Given the description of an element on the screen output the (x, y) to click on. 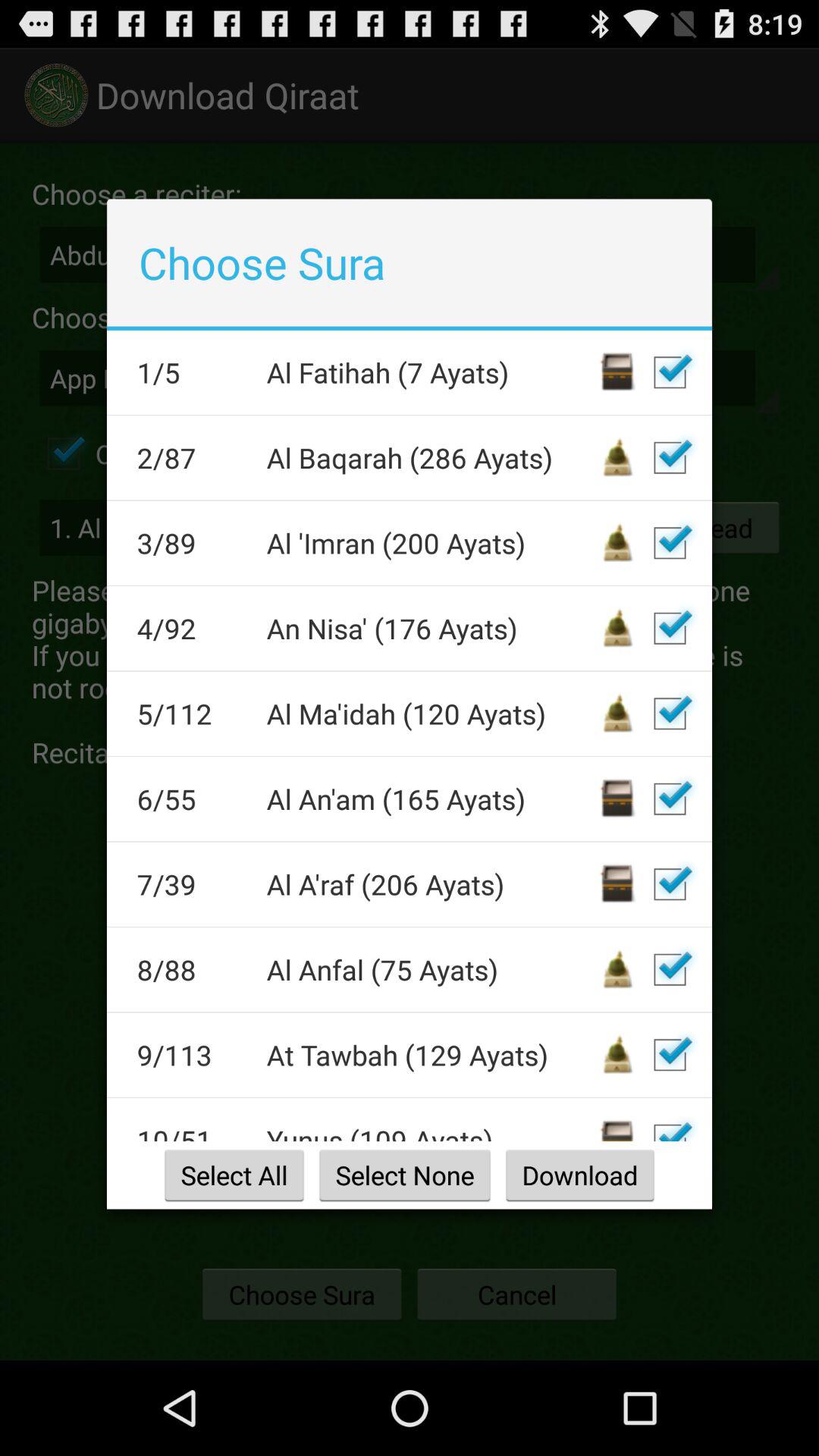
choose app to the left of al a raf app (191, 884)
